Given the description of an element on the screen output the (x, y) to click on. 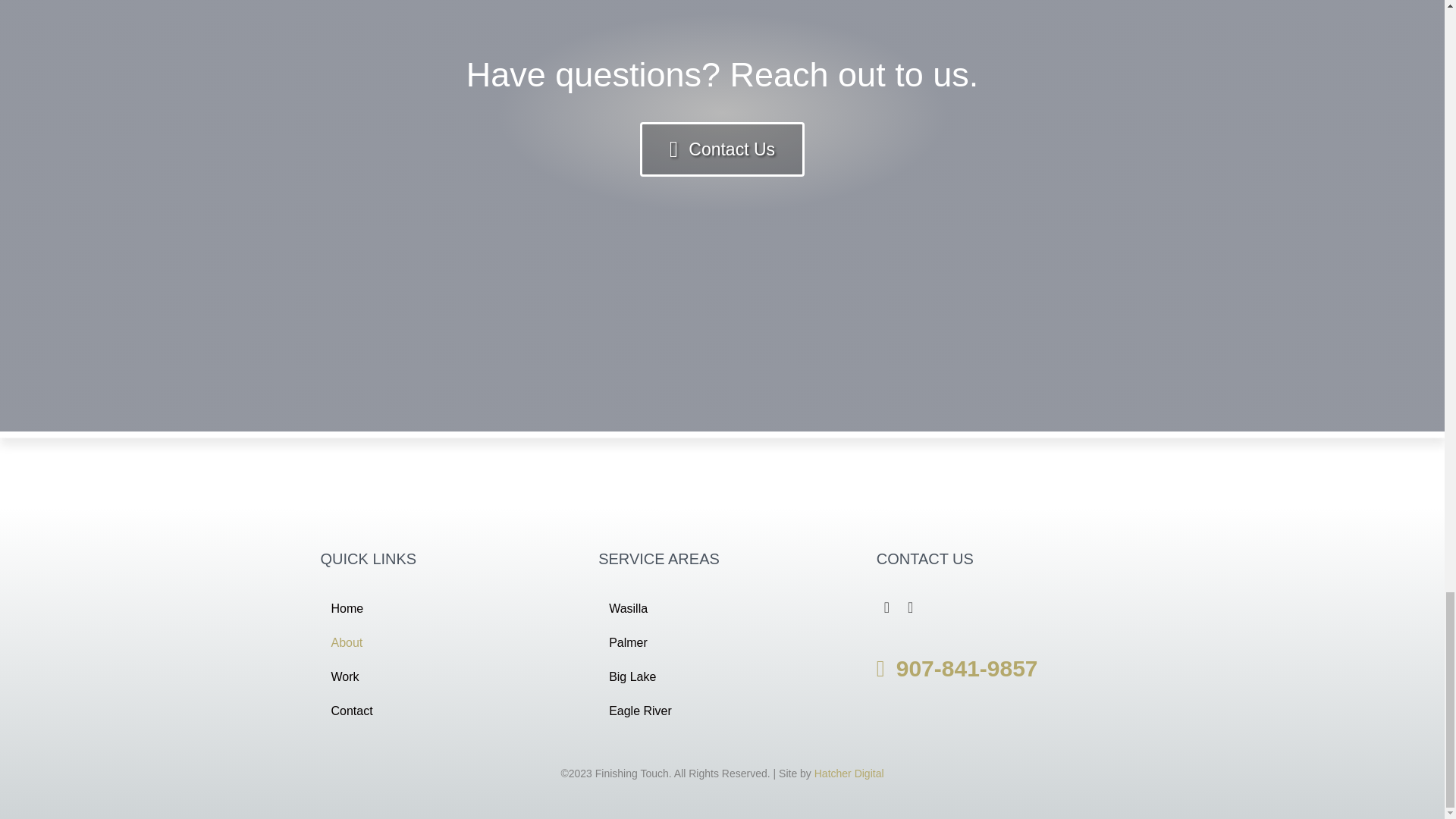
Work (443, 676)
Hatcher Digital (848, 773)
Palmer (721, 643)
Home (443, 608)
Contact Us (722, 149)
Wasilla (721, 608)
Big Lake (721, 676)
Eagle River (721, 711)
About (443, 643)
Contact (443, 711)
